Given the description of an element on the screen output the (x, y) to click on. 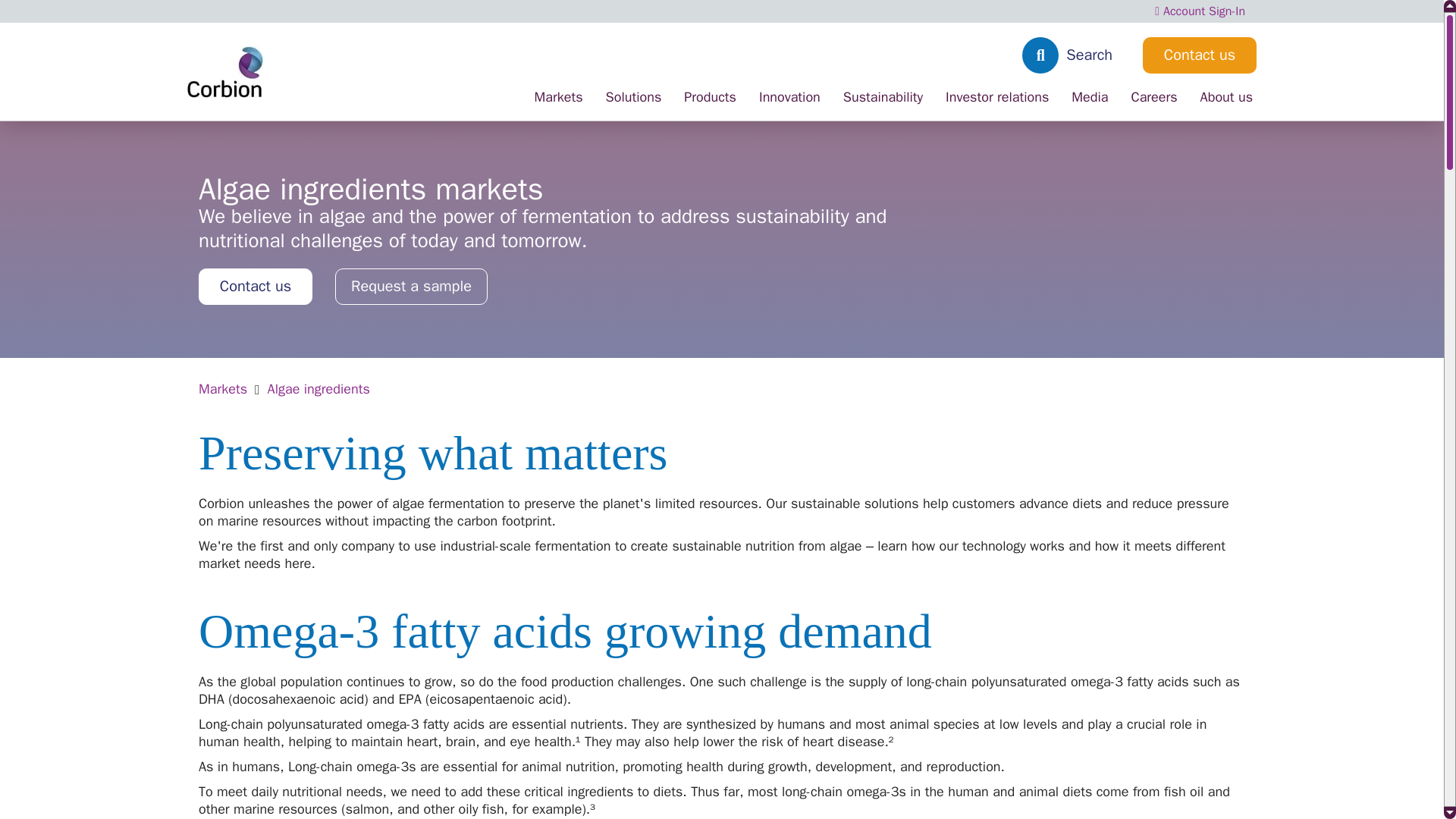
Account Sign-In (1199, 10)
Contact us (1199, 54)
Search (1074, 54)
Corbion (225, 71)
Markets (558, 104)
